Given the description of an element on the screen output the (x, y) to click on. 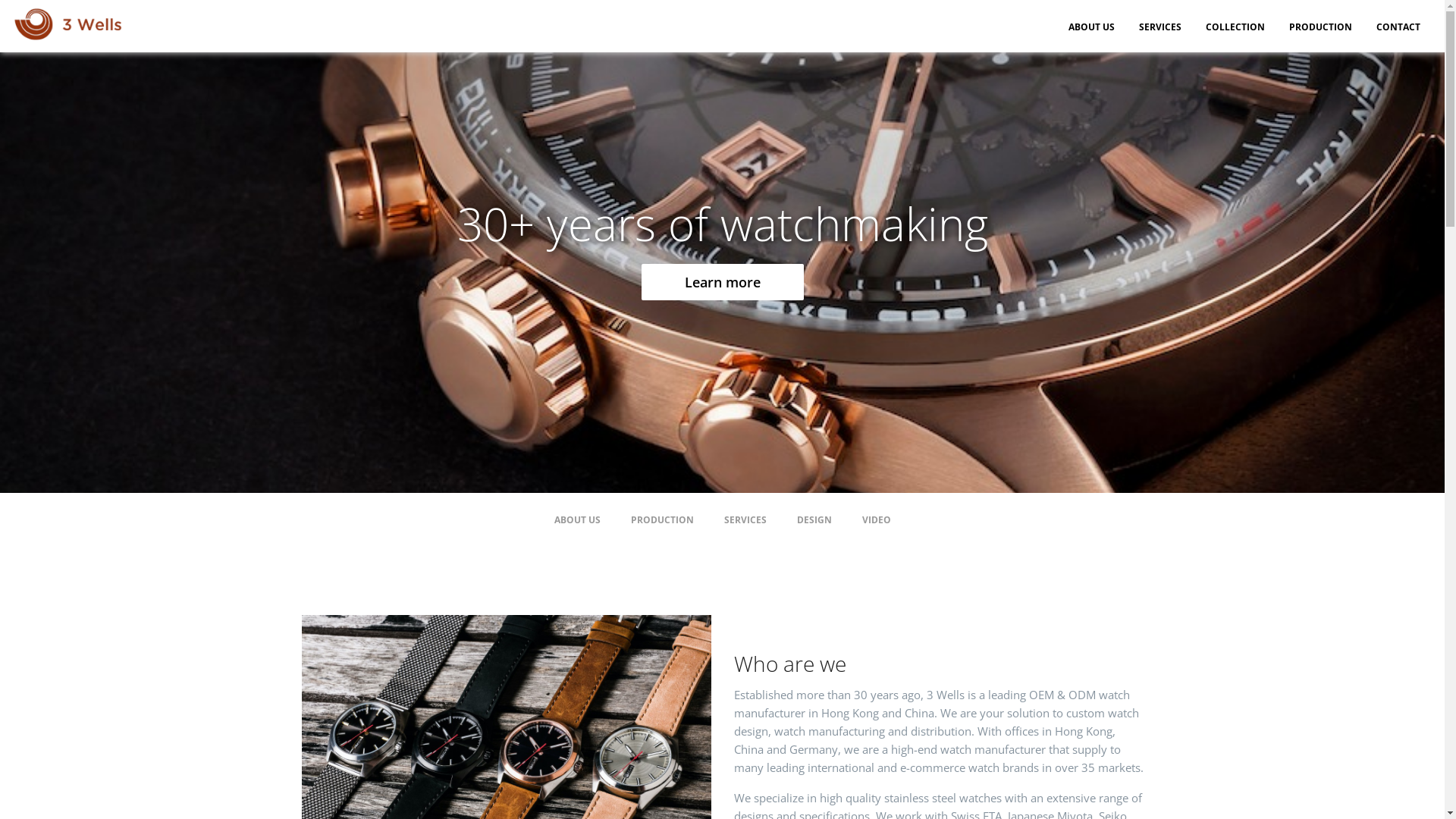
VIDEO Element type: text (875, 519)
Learn more Element type: text (131, 281)
ABOUT US Element type: text (576, 519)
DESIGN Element type: text (813, 519)
CONTACT Element type: text (1398, 26)
PRODUCTION Element type: text (1320, 26)
PRODUCTION Element type: text (662, 519)
COLLECTION Element type: text (1234, 26)
ABOUT US Element type: text (1091, 26)
SERVICES Element type: text (744, 519)
SERVICES Element type: text (1160, 26)
